Given the description of an element on the screen output the (x, y) to click on. 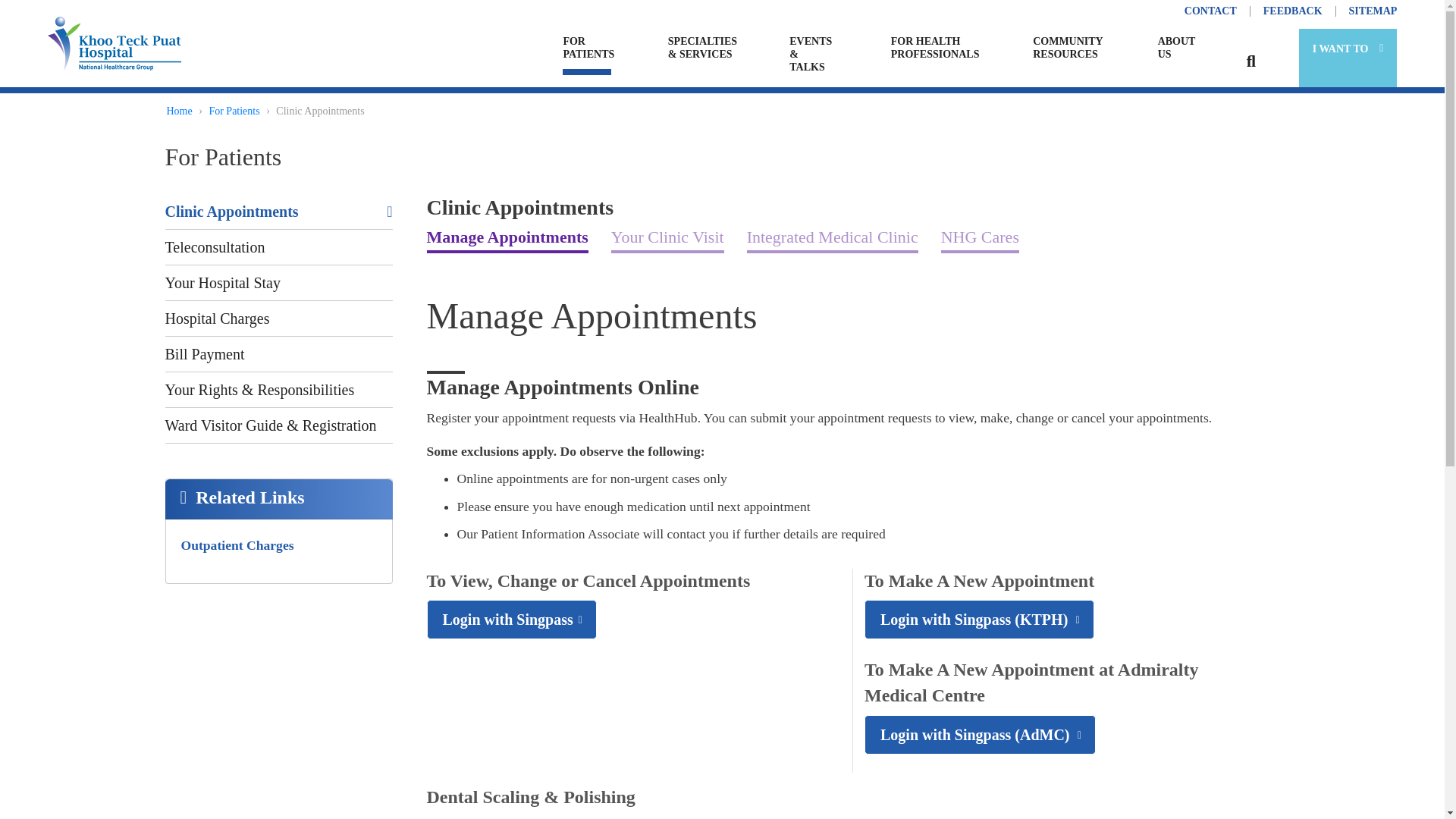
FOR HEALTH PROFESSIONALS (933, 52)
Logo (114, 43)
FEEDBACK (1292, 10)
FOR PATIENTS (586, 52)
CONTACT (1210, 10)
SITEMAP (1369, 10)
